Given the description of an element on the screen output the (x, y) to click on. 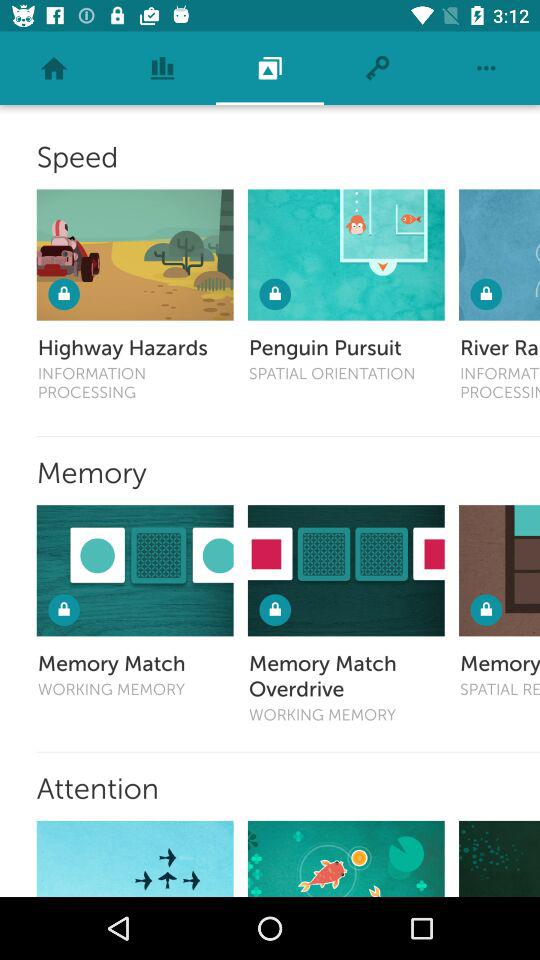
first attention exercise (134, 858)
